Given the description of an element on the screen output the (x, y) to click on. 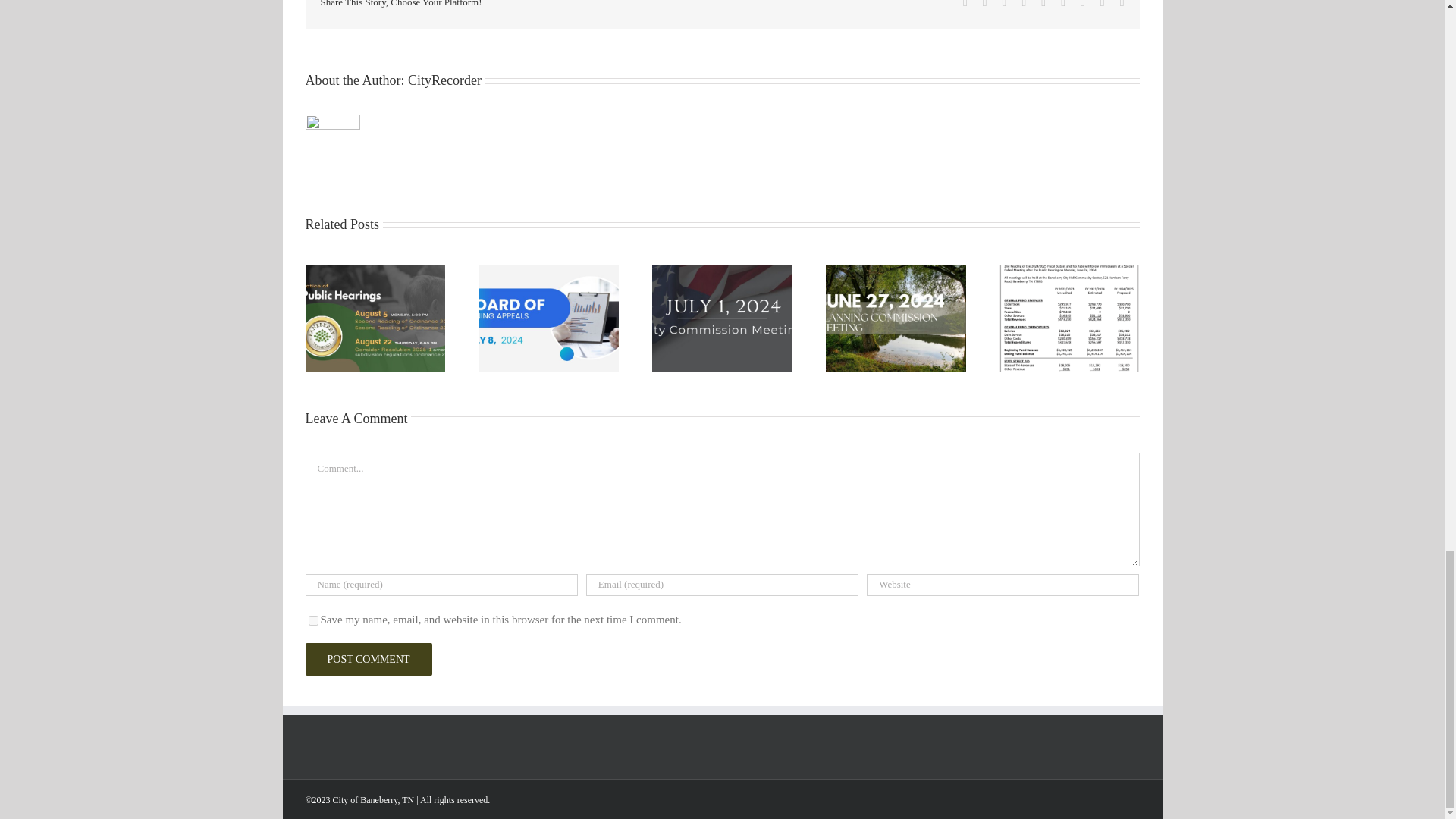
Post Comment (367, 658)
yes (312, 620)
Posts by CityRecorder (444, 79)
